Given the description of an element on the screen output the (x, y) to click on. 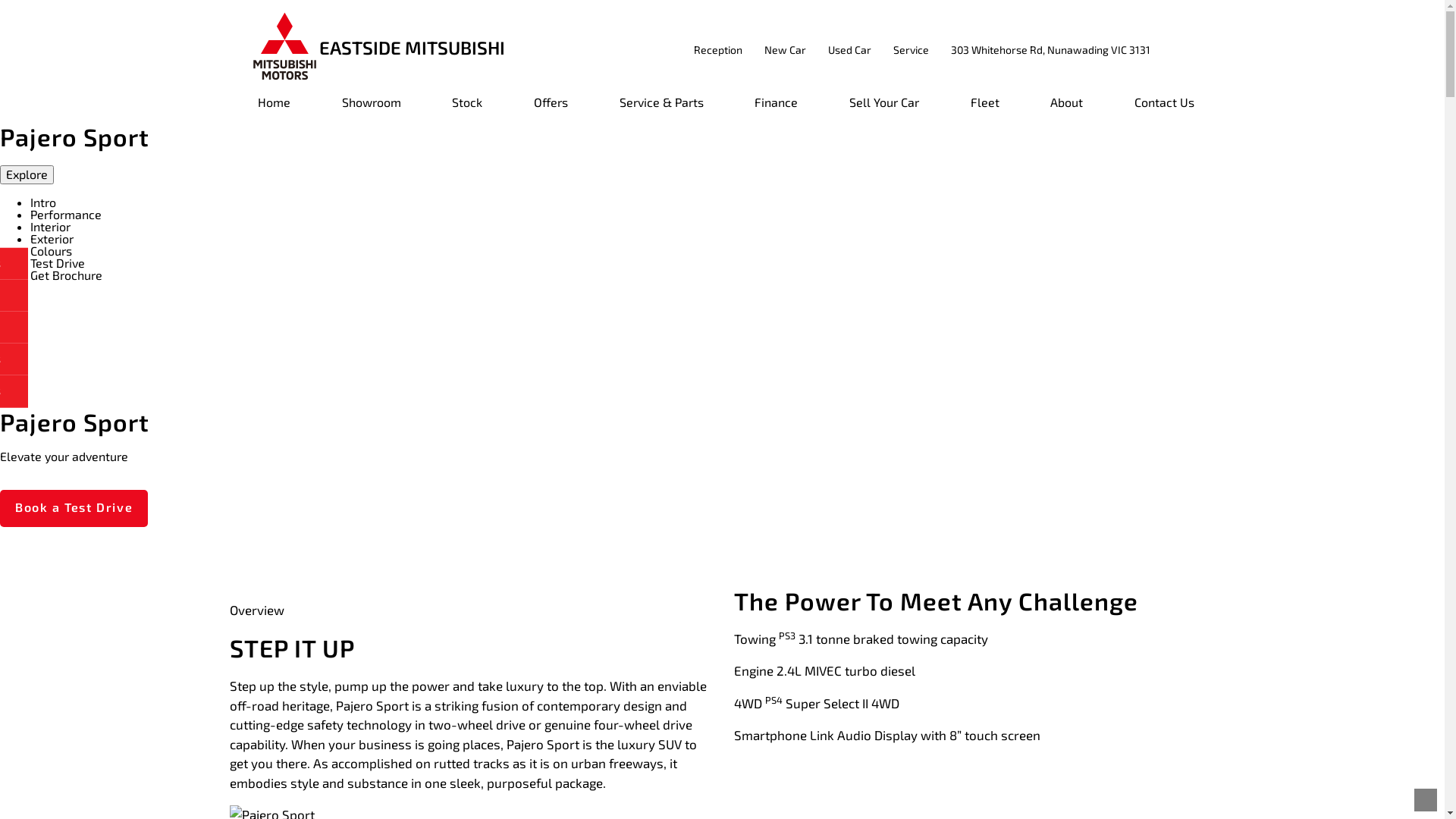
Get Brochure Element type: text (66, 274)
About Element type: text (1066, 107)
Reception Element type: text (717, 49)
Intro Element type: text (43, 201)
Offers Element type: text (550, 107)
Fleet Element type: text (985, 107)
New Car Element type: text (785, 49)
Performance Element type: text (65, 214)
Finance Element type: text (775, 107)
Sell Your Car Element type: text (883, 107)
303 Whitehorse Rd, Nunawading VIC 3131 Element type: text (1050, 49)
Showroom Element type: text (371, 107)
Interior Element type: text (50, 226)
Test Drive Element type: text (57, 262)
Book a Test Drive Element type: text (73, 508)
Exterior Element type: text (51, 238)
Stock Element type: text (466, 107)
EASTSIDE MITSUBISHI Element type: text (377, 49)
Contact Us Element type: text (1160, 107)
Colours Element type: text (51, 250)
Explore Element type: text (26, 174)
Service & Parts Element type: text (661, 107)
Service Element type: text (910, 49)
Used Car Element type: text (849, 49)
Home Element type: text (274, 107)
